Given the description of an element on the screen output the (x, y) to click on. 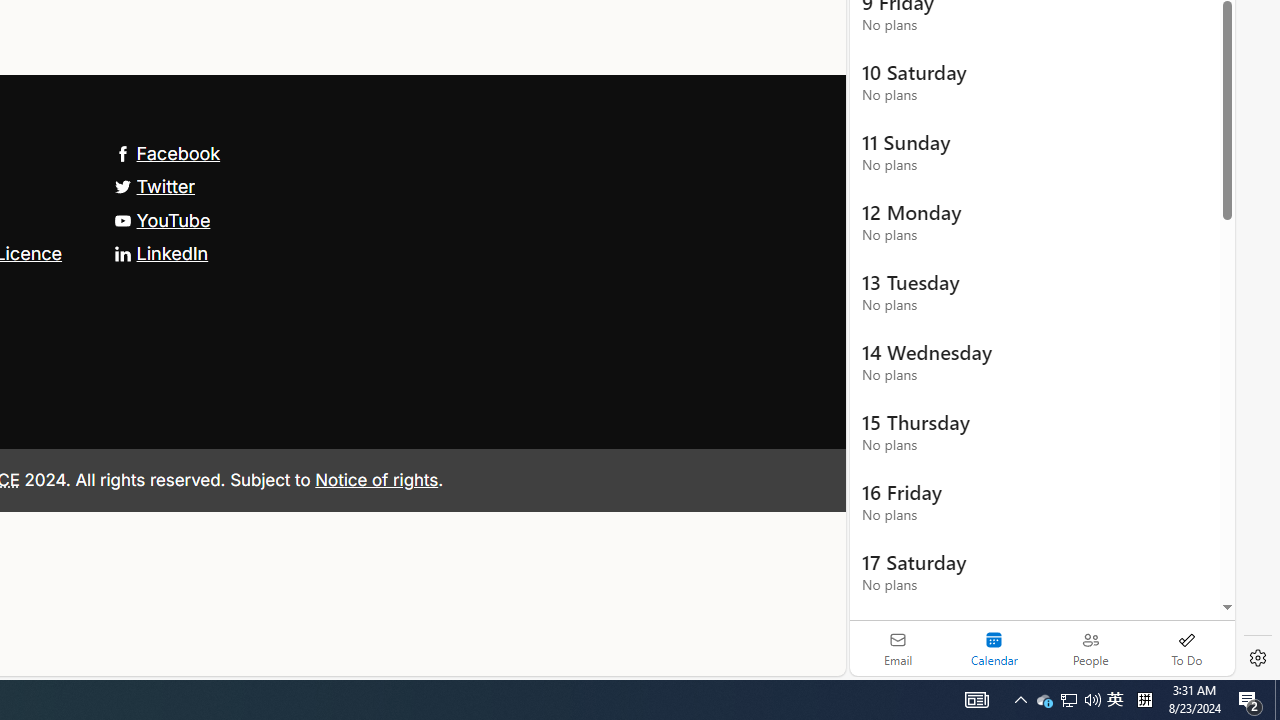
LinkedIn (160, 252)
Notice of rights (376, 479)
